Given the description of an element on the screen output the (x, y) to click on. 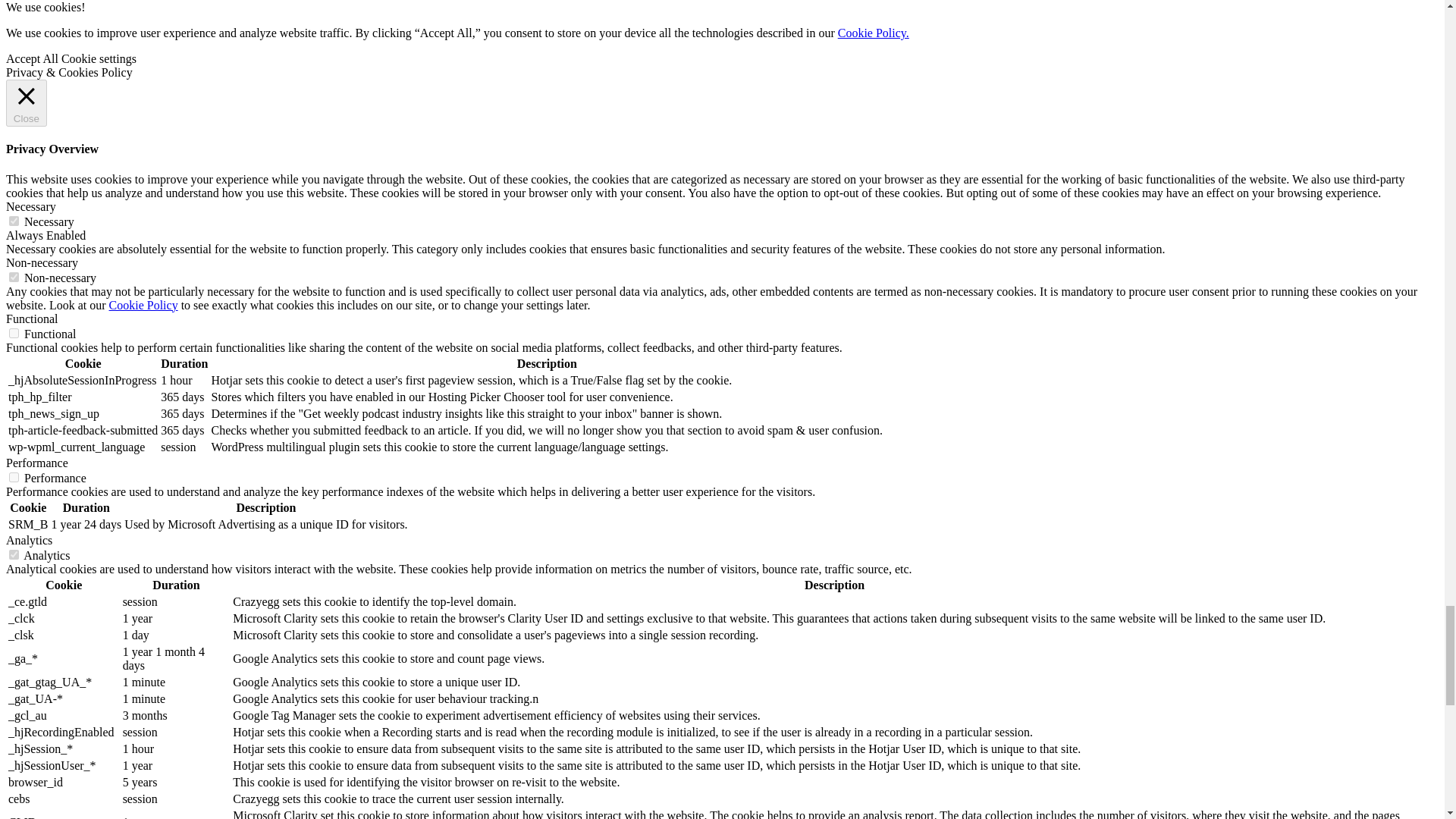
on (13, 221)
on (13, 333)
on (13, 554)
on (13, 276)
on (13, 477)
